Given the description of an element on the screen output the (x, y) to click on. 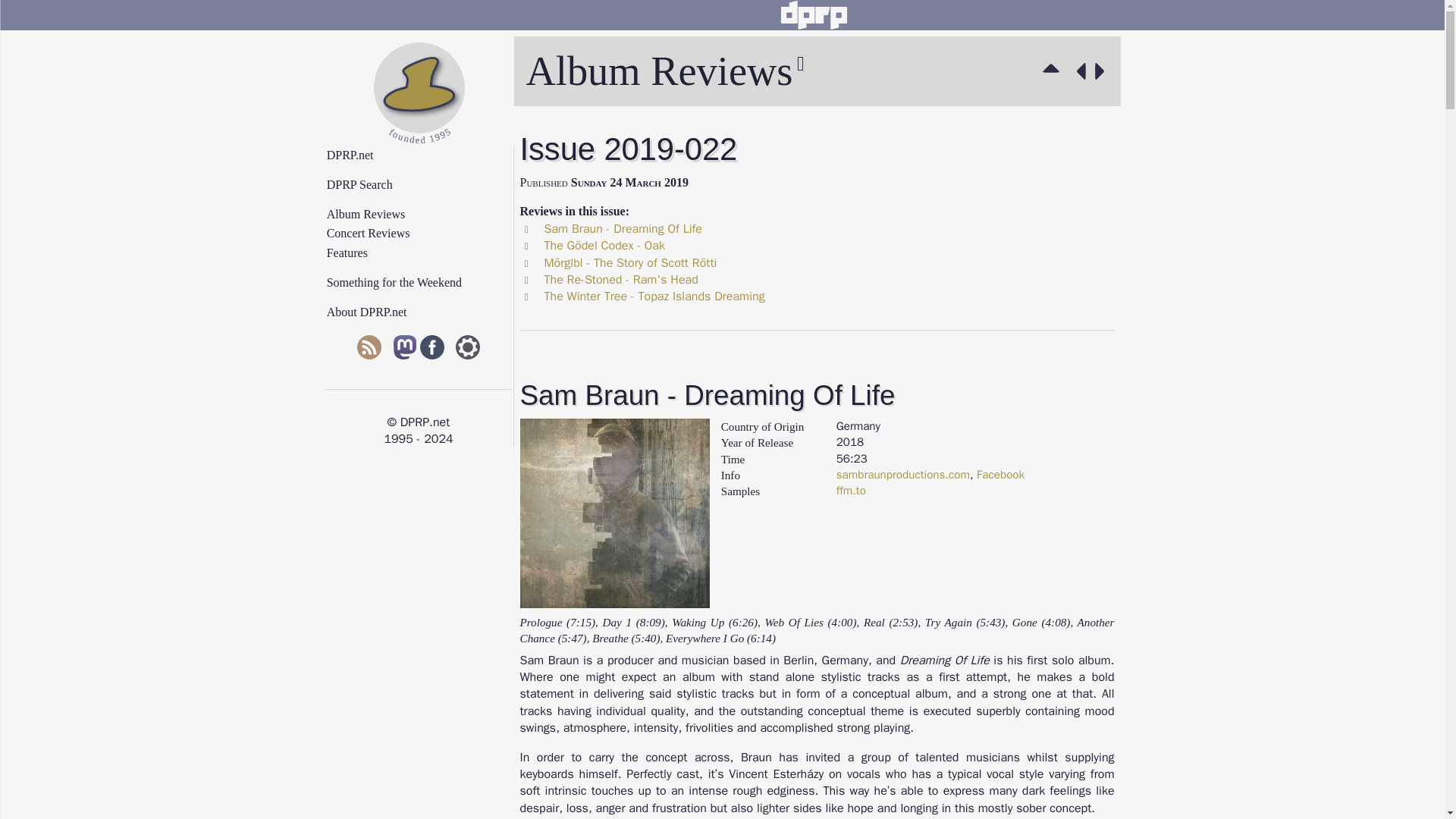
DPRP Search (424, 184)
Issue 2019-023 (1102, 70)
About DPRP.net (424, 312)
DPRP.net (424, 155)
Something for the Weekend (424, 283)
Sam Braun - Dreaming Of Life (622, 228)
Issue 2019-021 (1077, 70)
Concert Reviews (424, 234)
Album Reviews (1053, 70)
ffm.to (850, 490)
